Given the description of an element on the screen output the (x, y) to click on. 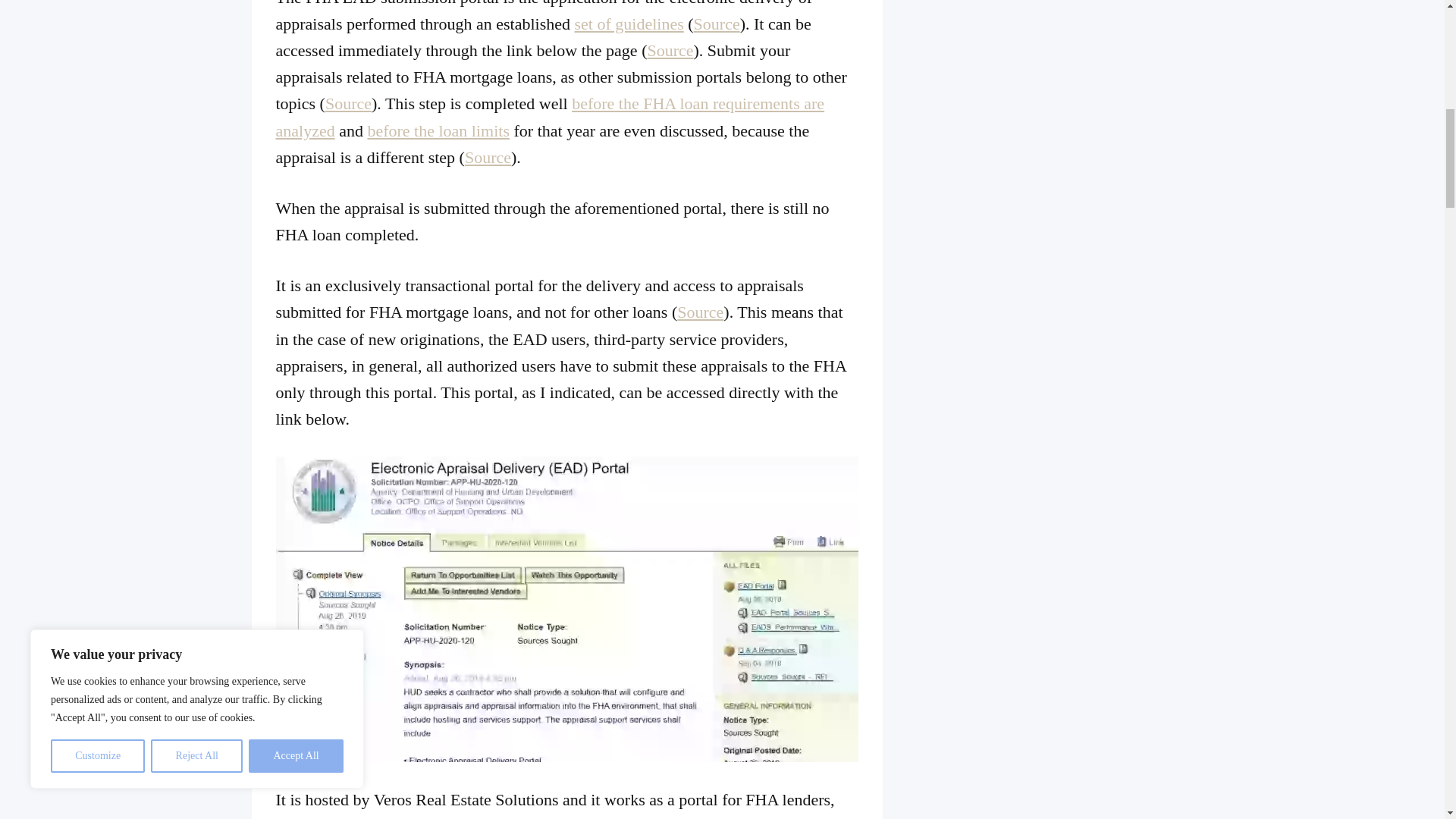
set of guidelines (629, 23)
before the loan limits (437, 130)
Source (700, 311)
Source (716, 23)
Source (347, 103)
Source (487, 157)
Source (669, 49)
before the FHA loan requirements are analyzed (550, 116)
